Given the description of an element on the screen output the (x, y) to click on. 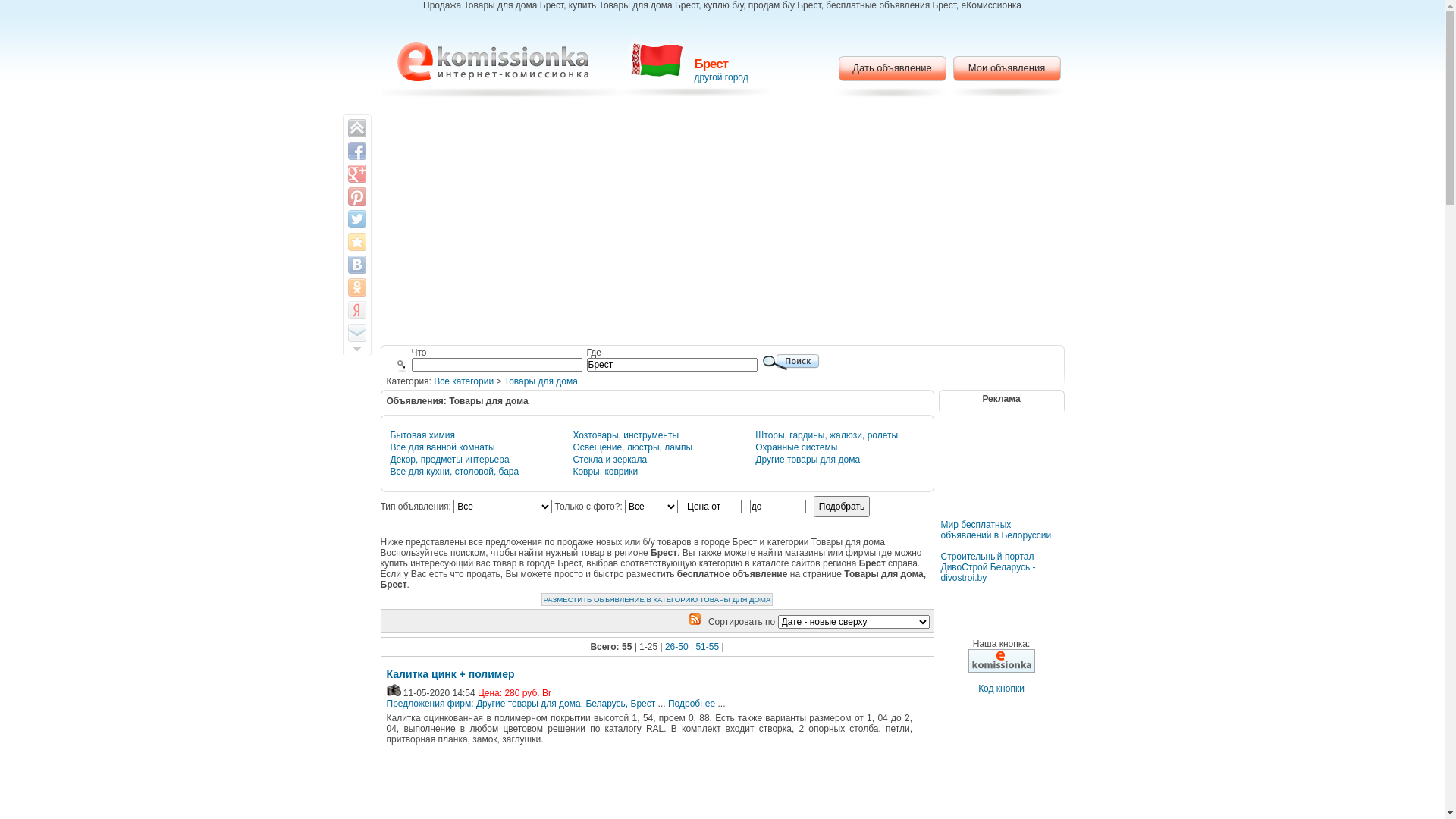
Share on Twitter Element type: hover (356, 219)
Back on top Element type: hover (356, 128)
Advertisement Element type: hover (1000, 474)
Pin It Element type: hover (356, 196)
Share to Odnoklassniki.ru Element type: hover (356, 287)
Share on Google+ Element type: hover (356, 173)
Share on Facebook Element type: hover (356, 150)
Email this to a friend Element type: hover (356, 332)
Save to Browser Favorites Element type: hover (356, 241)
26-50 Element type: text (676, 646)
Save to Yandex Bookmarks Element type: hover (356, 310)
Advertisement Element type: hover (722, 223)
51-55 Element type: text (706, 646)
Share on VK Element type: hover (356, 264)
